Given the description of an element on the screen output the (x, y) to click on. 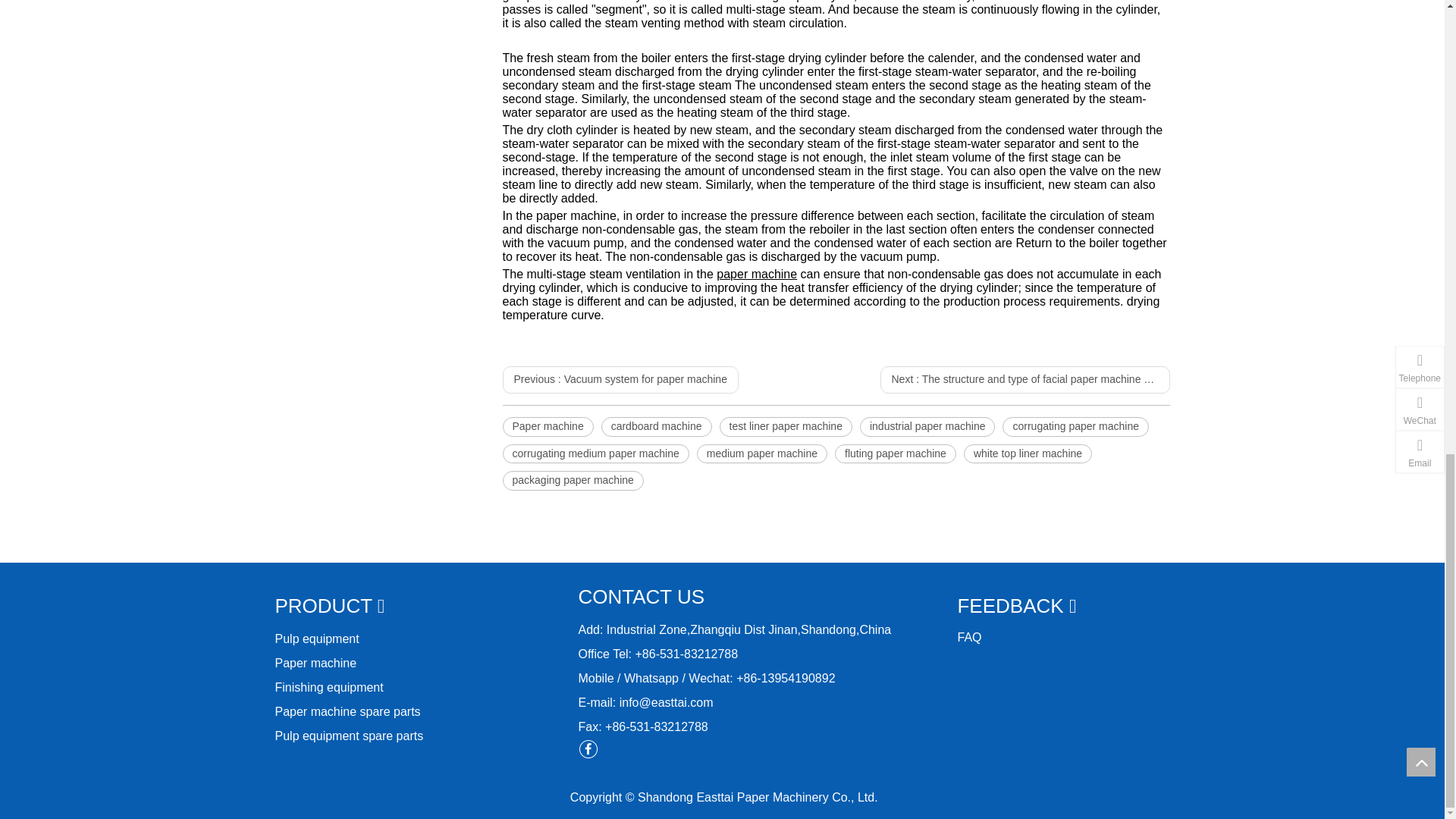
Paper machine (547, 426)
white top liner machine (1027, 454)
Previous : Vacuum system for paper machine (620, 379)
corrugating paper machine (1075, 426)
Paper machine (547, 426)
industrial paper machine (927, 426)
test liner paper machine (785, 426)
paper machine (756, 273)
cardboard machine (656, 426)
